Given the description of an element on the screen output the (x, y) to click on. 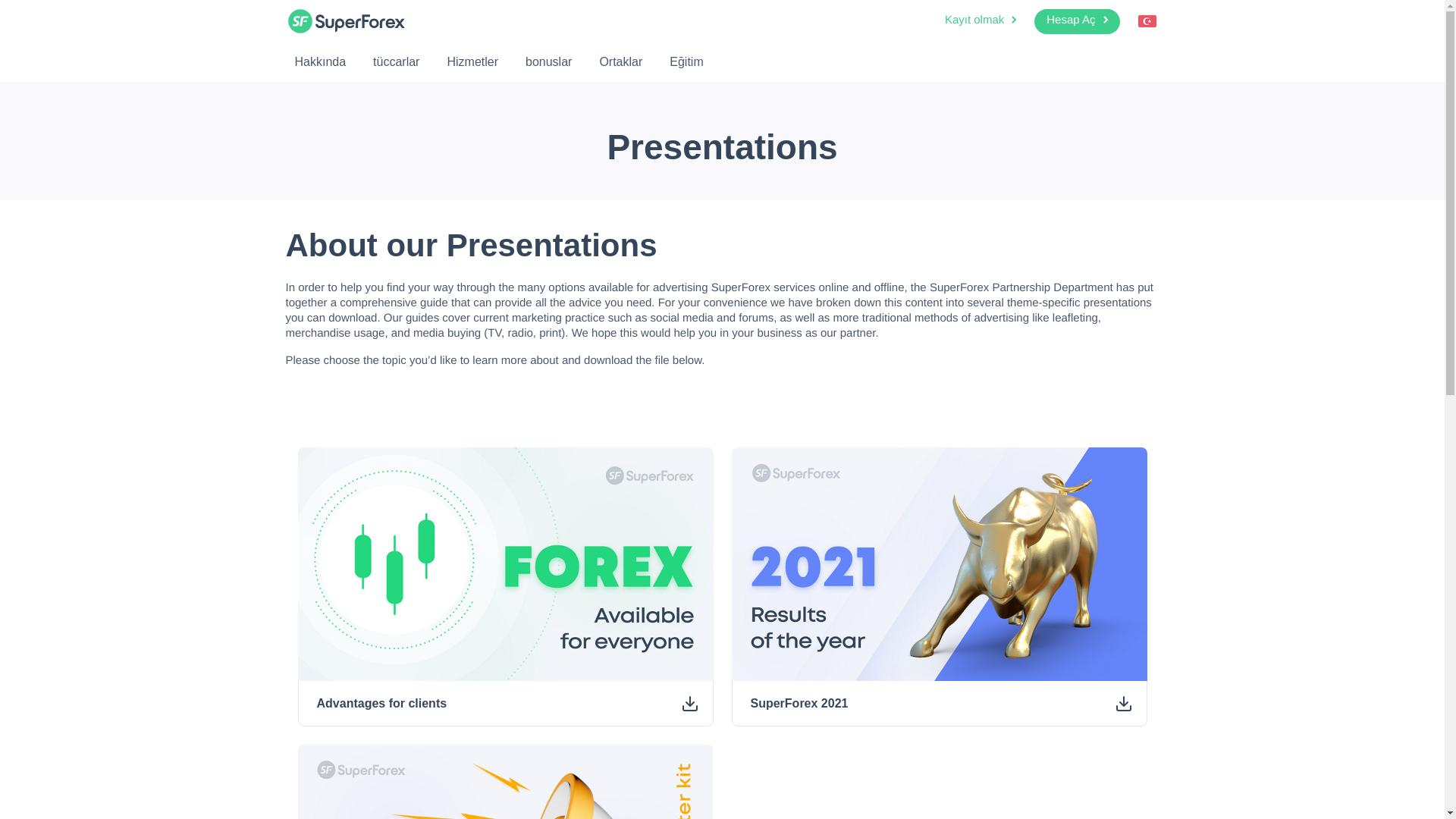
Ortaklar (619, 61)
Download source file (1123, 703)
Download source file (690, 703)
bonuslar (548, 61)
Hizmetler (472, 61)
